Given the description of an element on the screen output the (x, y) to click on. 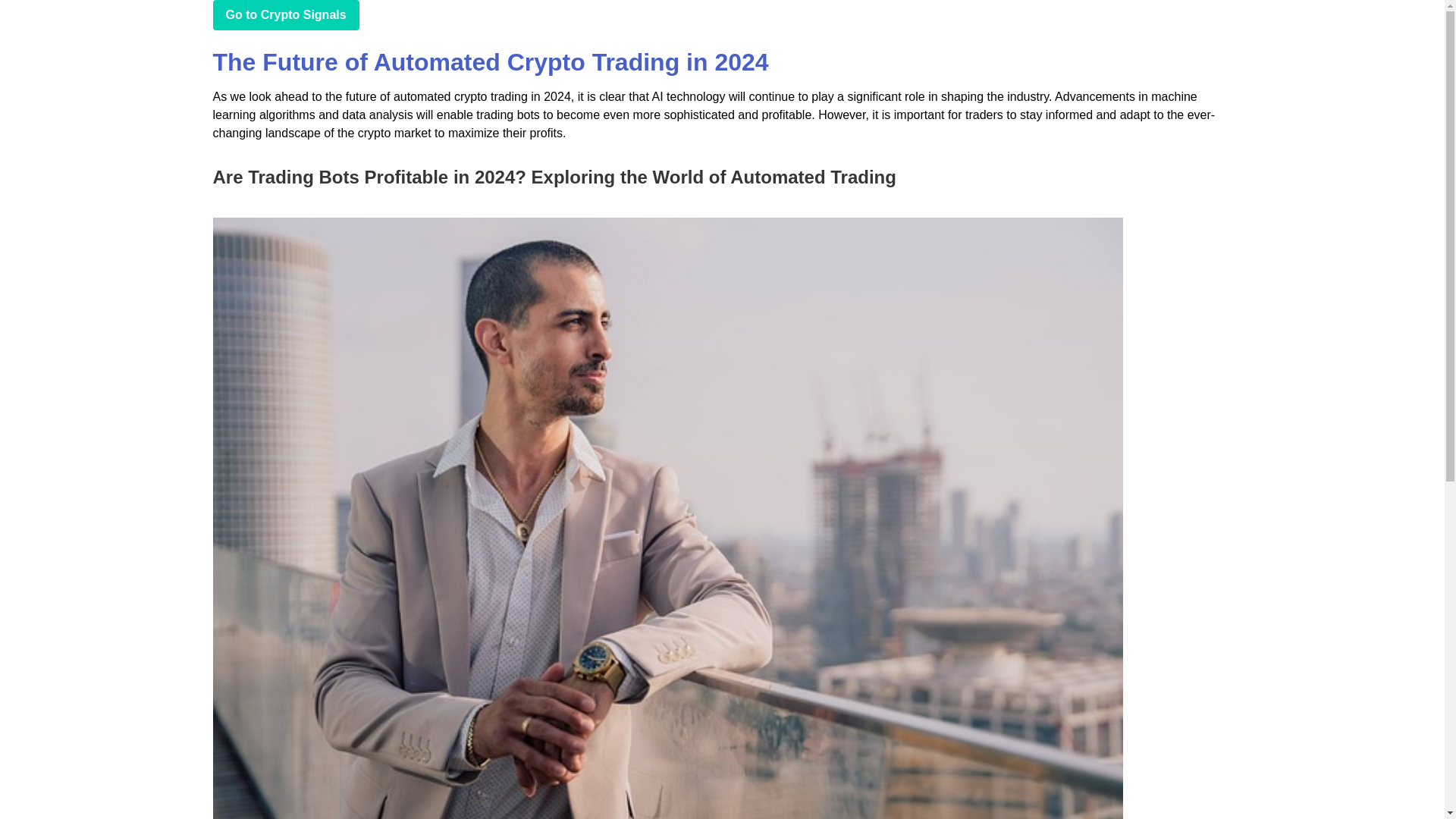
The Future of Automated Crypto Trading in 2024 (490, 62)
Go to Crypto Signals (285, 15)
play (285, 15)
